Given the description of an element on the screen output the (x, y) to click on. 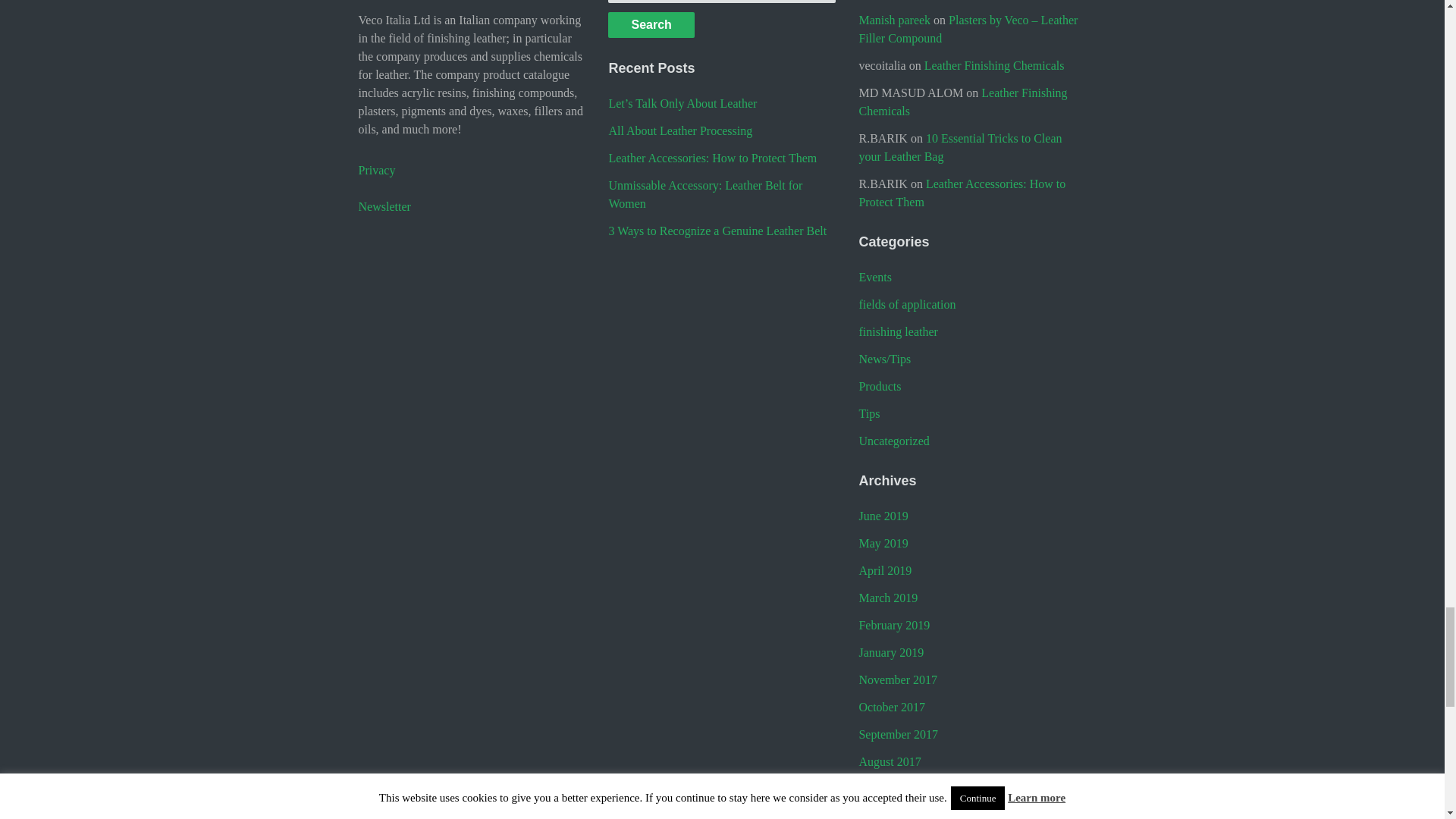
Newsletter (471, 207)
Privacy (376, 169)
Search (651, 24)
Search (651, 24)
Search (651, 24)
All About Leather Processing (680, 130)
Leather Accessories: How to Protect Them (712, 157)
